Given the description of an element on the screen output the (x, y) to click on. 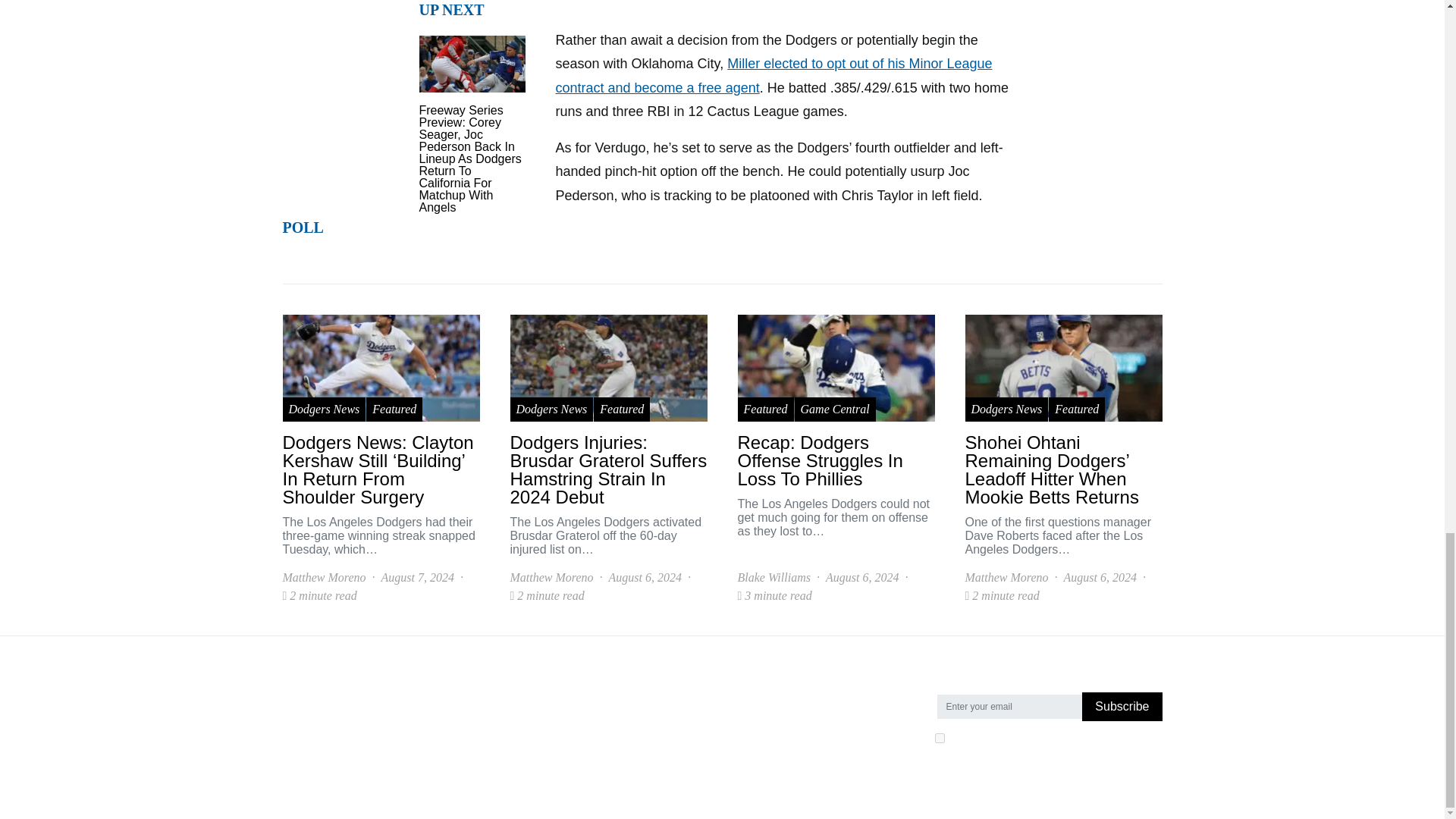
View all posts by Matthew Moreno (323, 577)
on (938, 737)
View all posts by Blake Williams (772, 577)
View all posts by Matthew Moreno (1005, 577)
View all posts by Matthew Moreno (550, 577)
